Given the description of an element on the screen output the (x, y) to click on. 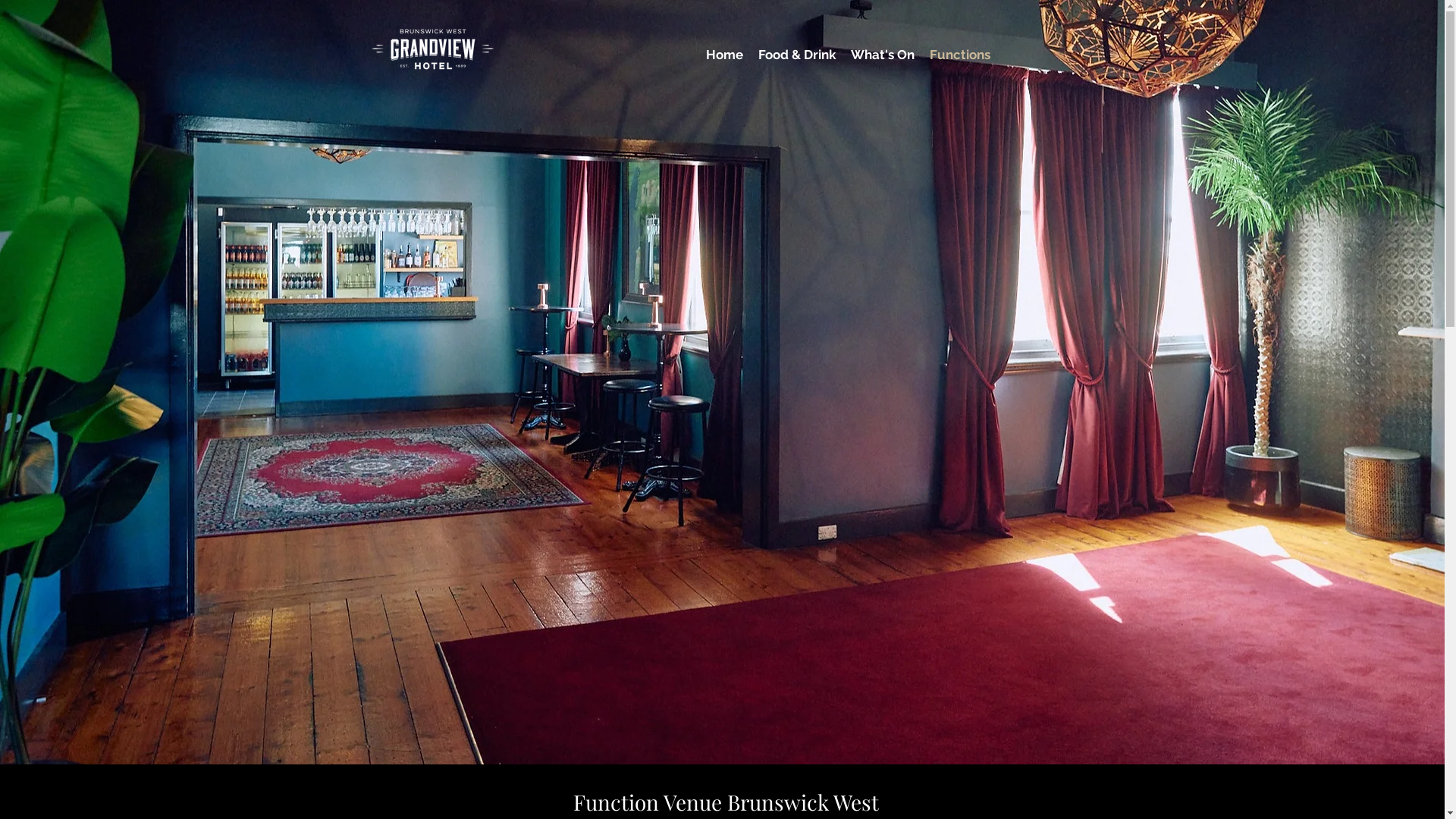
Functions Element type: text (959, 48)
What's On Element type: text (882, 48)
Food & Drink Element type: text (796, 48)
Home Element type: text (724, 48)
